Given the description of an element on the screen output the (x, y) to click on. 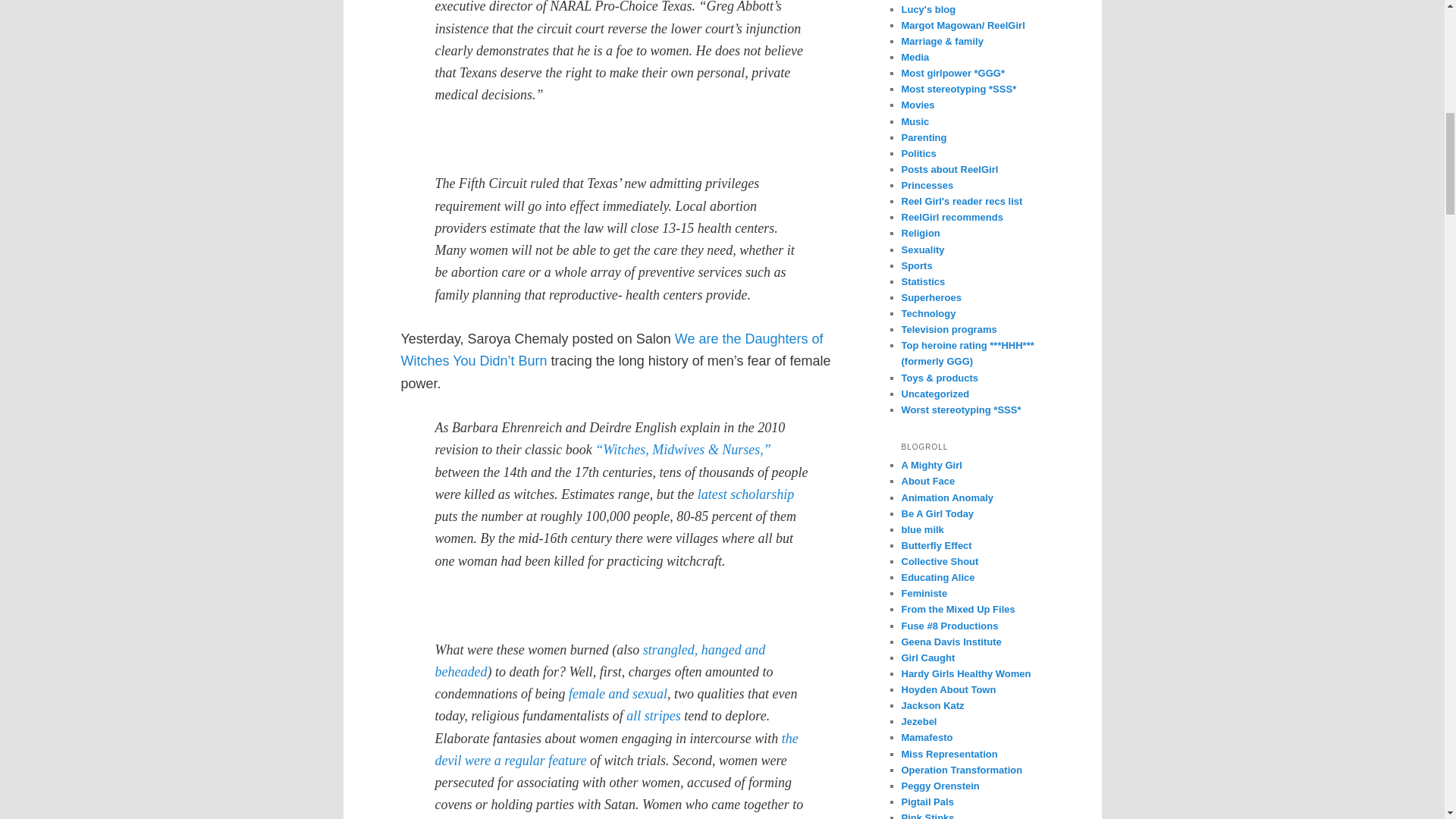
strangled, hanged and beheaded (600, 660)
all stripes (653, 715)
latest scholarship (745, 494)
the devil were a regular feature (616, 749)
female and sexual (617, 693)
